Given the description of an element on the screen output the (x, y) to click on. 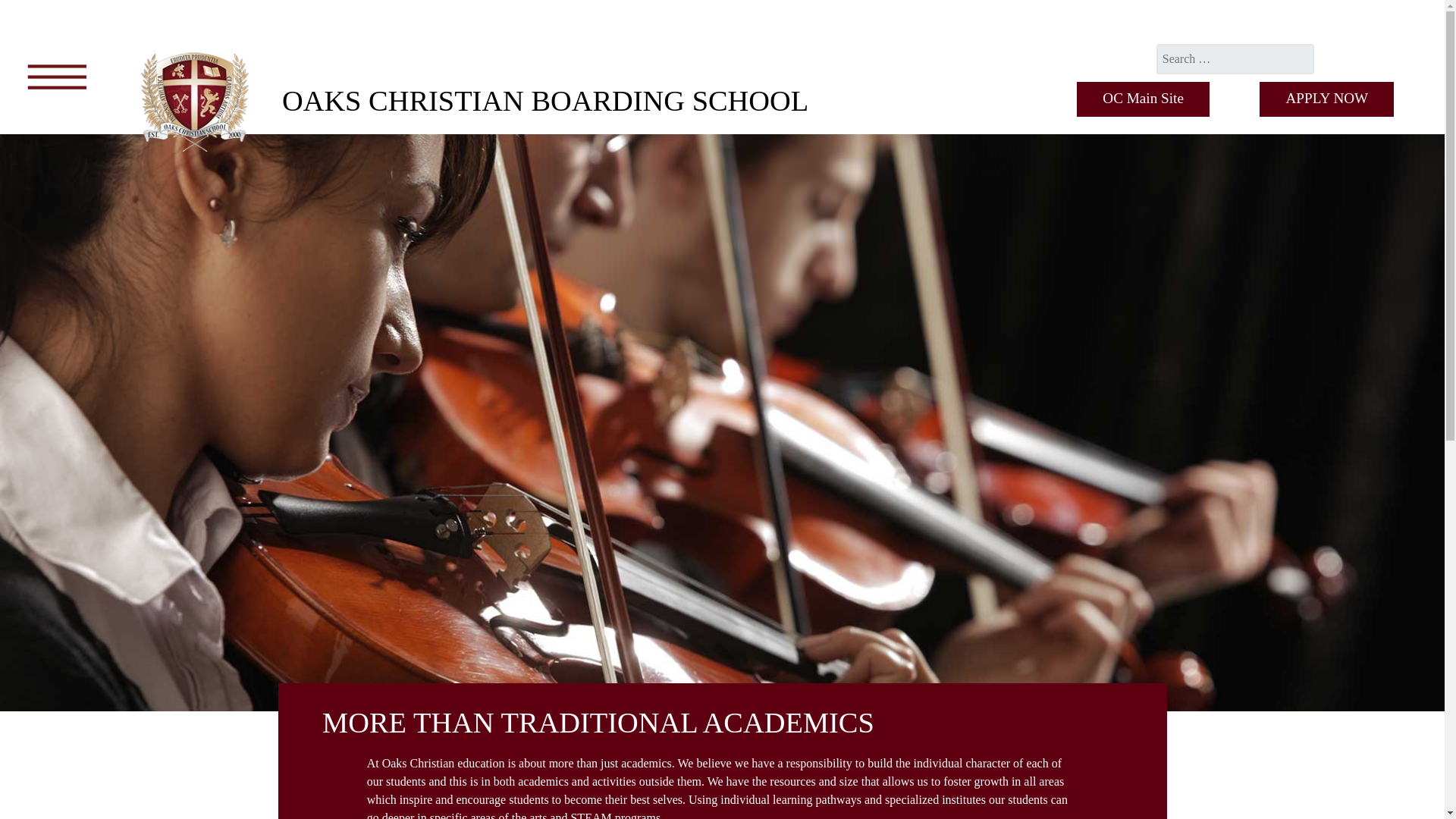
APPLY NOW (1326, 99)
OAKS CHRISTIAN BOARDING SCHOOL (545, 101)
OC Main Site (1143, 99)
